Given the description of an element on the screen output the (x, y) to click on. 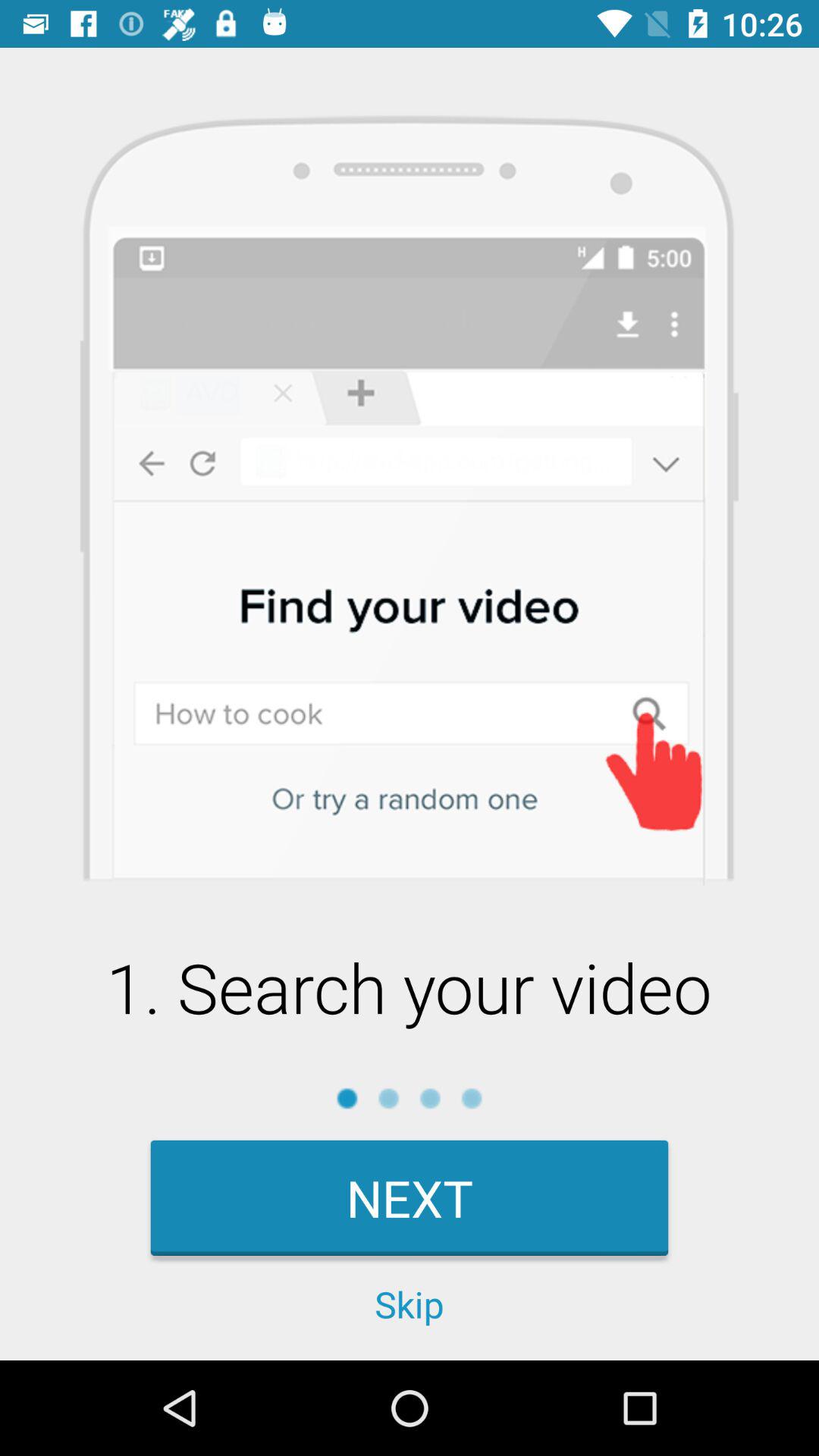
swipe to the next (409, 1197)
